Given the description of an element on the screen output the (x, y) to click on. 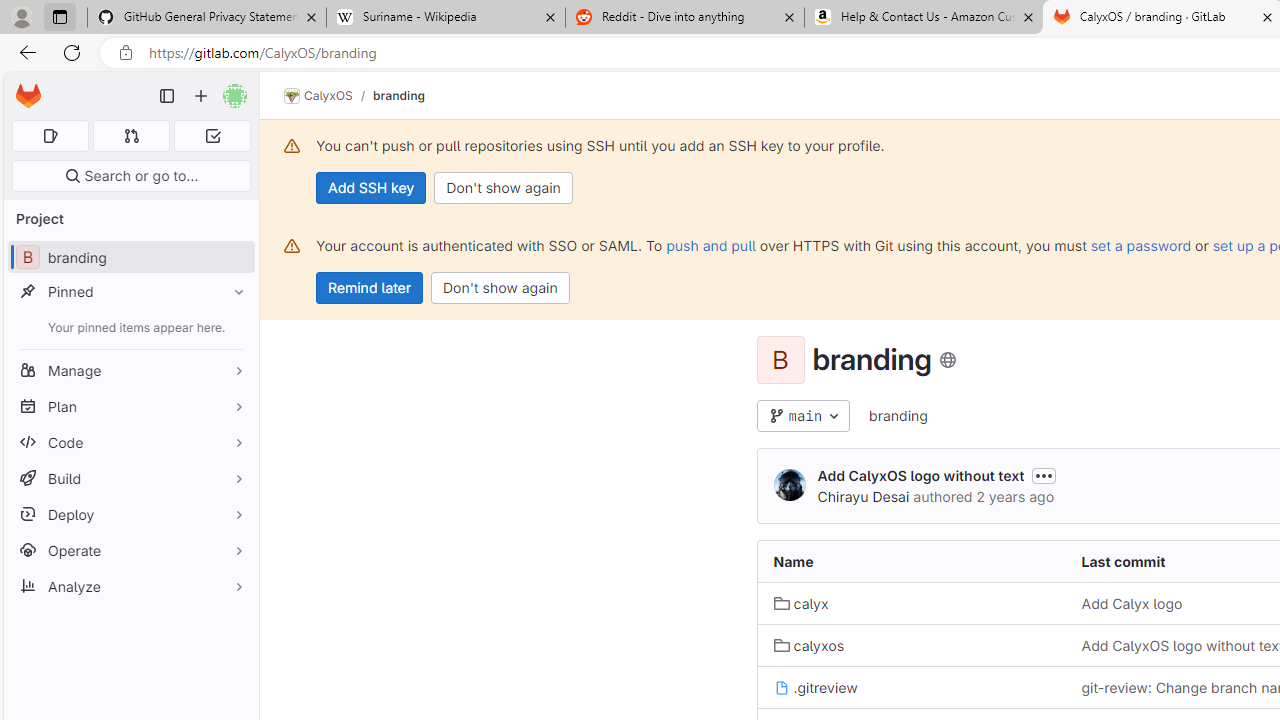
Plan (130, 406)
Operate (130, 550)
B branding (130, 257)
Skip to main content (23, 87)
Manage (130, 370)
Remind later (369, 287)
To-Do list 0 (212, 136)
branding (898, 415)
GitHub General Privacy Statement - GitHub Docs (207, 17)
.gitreview (815, 686)
calyx (911, 602)
Class: s16 position-relative file-icon (781, 687)
Deploy (130, 514)
